Given the description of an element on the screen output the (x, y) to click on. 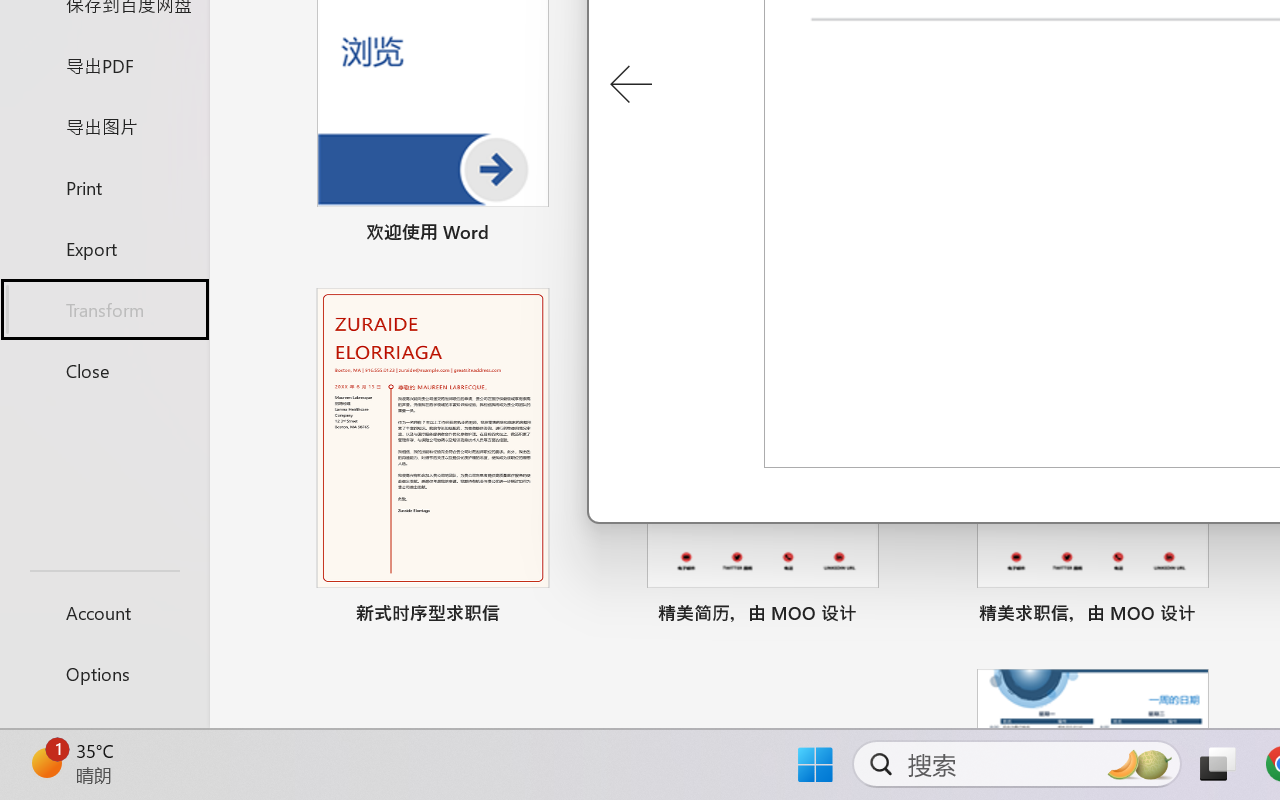
Account (104, 612)
